Given the description of an element on the screen output the (x, y) to click on. 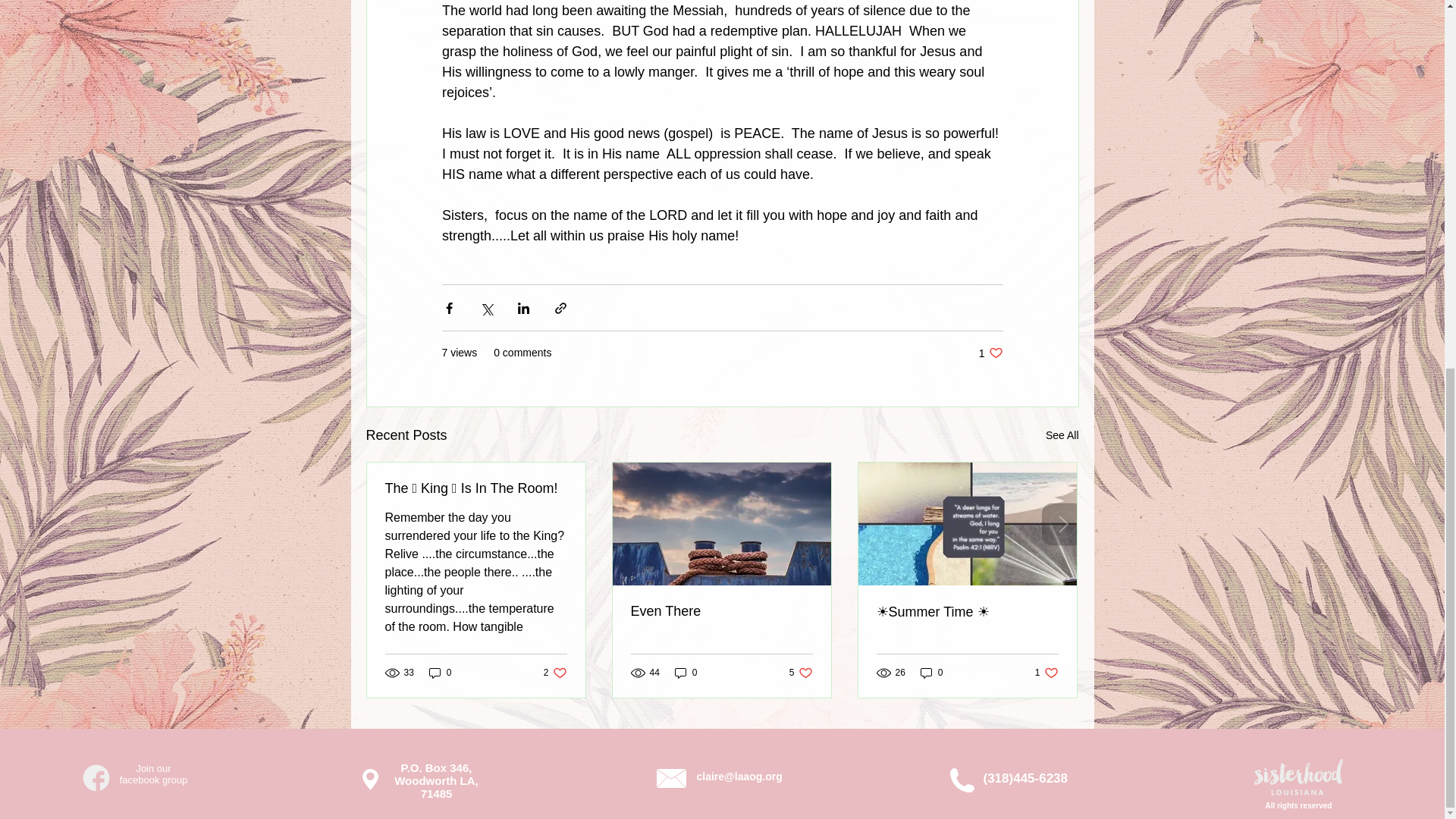
0 (800, 672)
See All (685, 672)
0 (1061, 435)
Even There (555, 672)
0 (440, 672)
